Given the description of an element on the screen output the (x, y) to click on. 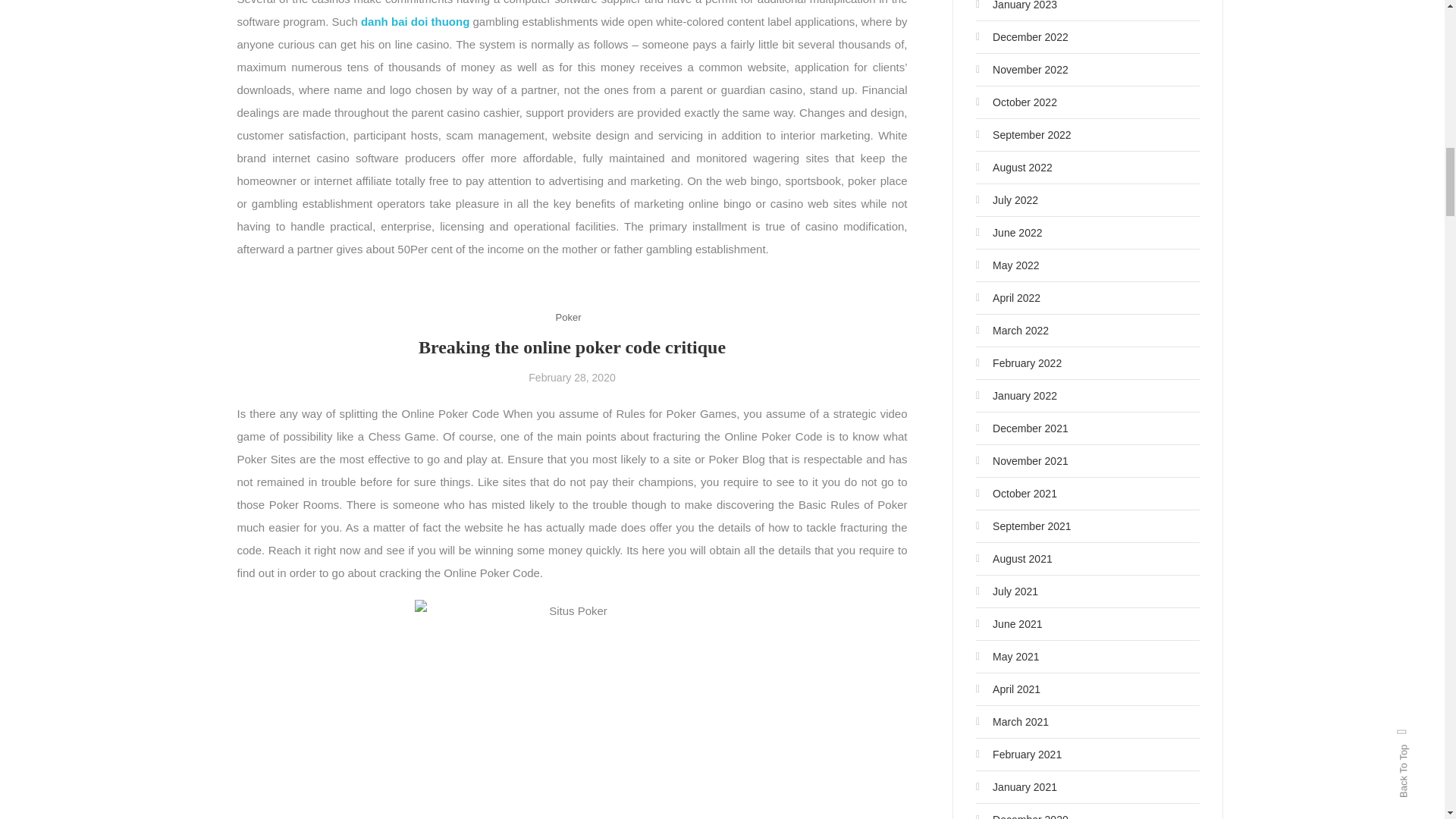
Poker (568, 316)
February 28, 2020 (571, 377)
Breaking the online poker code critique (572, 347)
danh bai doi thuong (414, 21)
